Given the description of an element on the screen output the (x, y) to click on. 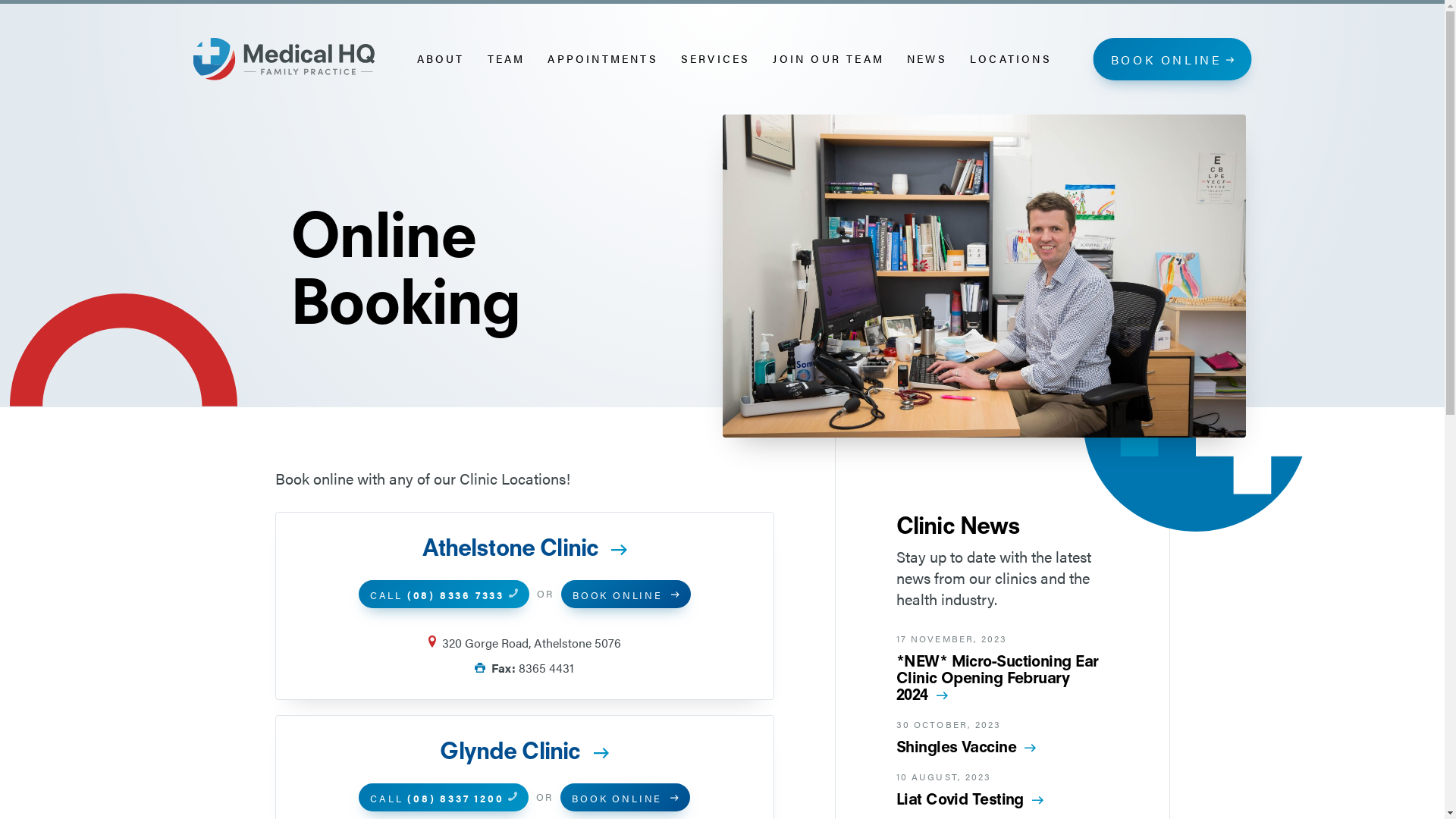
JOIN OUR TEAM Element type: text (828, 58)
10 AUGUST, 2023
Liat Covid Testing   Element type: text (1002, 788)
Glynde Clinic  Element type: text (523, 750)
ABOUT Element type: text (440, 58)
BOOK ONLINE Element type: text (1172, 58)
Medical HQ Element type: hover (284, 58)
BOOK ONLINE Element type: text (625, 594)
30 OCTOBER, 2023
Shingles Vaccine   Element type: text (1002, 736)
Athelstone Clinic  Element type: text (524, 547)
LOCATIONS Element type: text (1010, 58)
APPOINTMENTS Element type: text (602, 58)
BOOK ONLINE Element type: text (625, 796)
CALL (08) 8337 1200 Element type: text (443, 796)
CALL (08) 8336 7333 Element type: text (443, 594)
SERVICES Element type: text (715, 58)
NEWS Element type: text (926, 58)
TEAM Element type: text (506, 58)
